Given the description of an element on the screen output the (x, y) to click on. 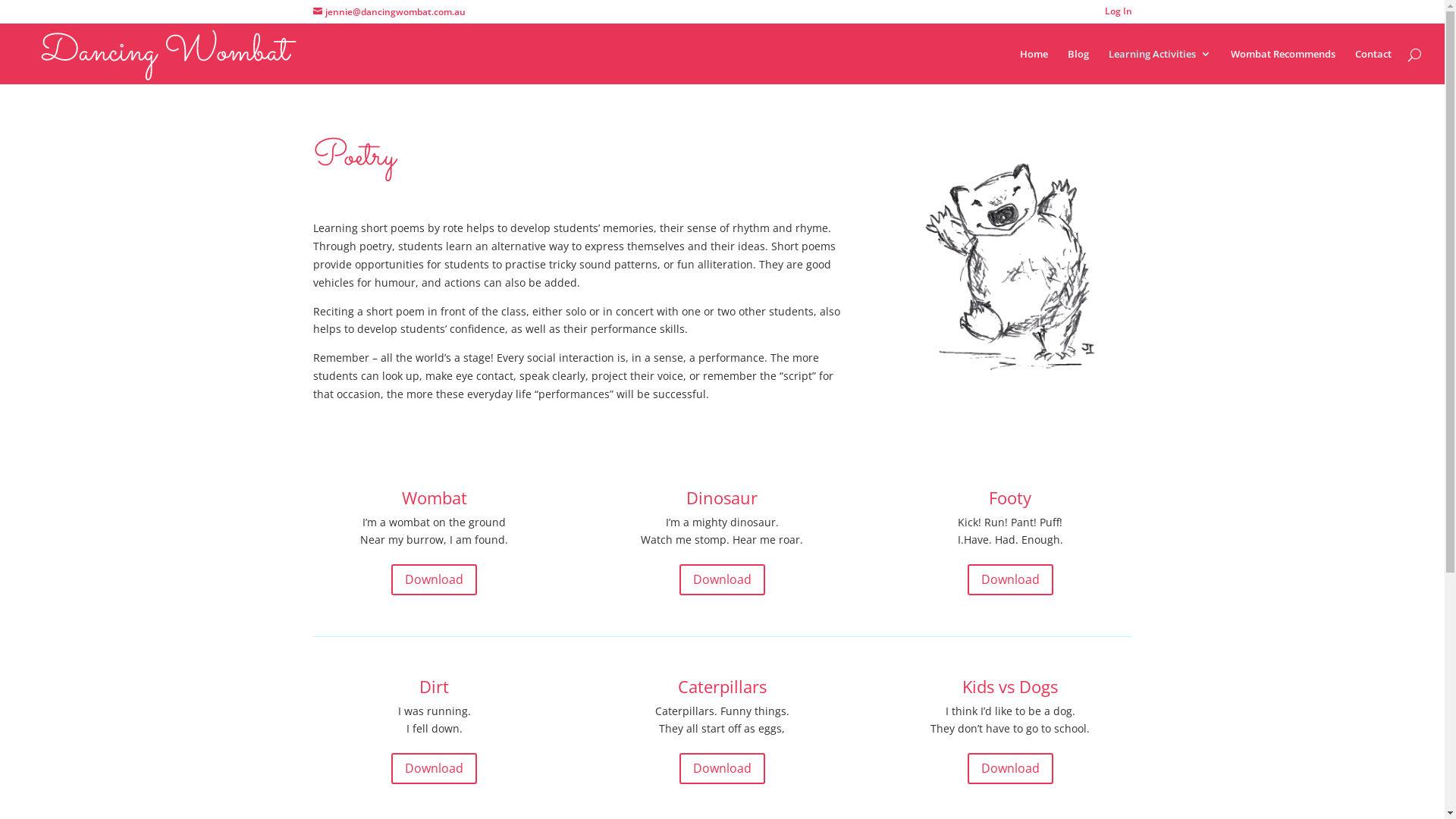
jennie@dancingwombat.com.au Element type: text (388, 11)
Contact Element type: text (1373, 66)
Blog Element type: text (1077, 66)
Learning Activities Element type: text (1159, 66)
Download Element type: text (1010, 768)
Download Element type: text (722, 579)
Home Element type: text (1033, 66)
Download Element type: text (1010, 579)
Wombat Recommends Element type: text (1282, 66)
Download Element type: text (433, 768)
Download Element type: text (722, 768)
Download Element type: text (433, 579)
Log In Element type: text (1117, 14)
